Given the description of an element on the screen output the (x, y) to click on. 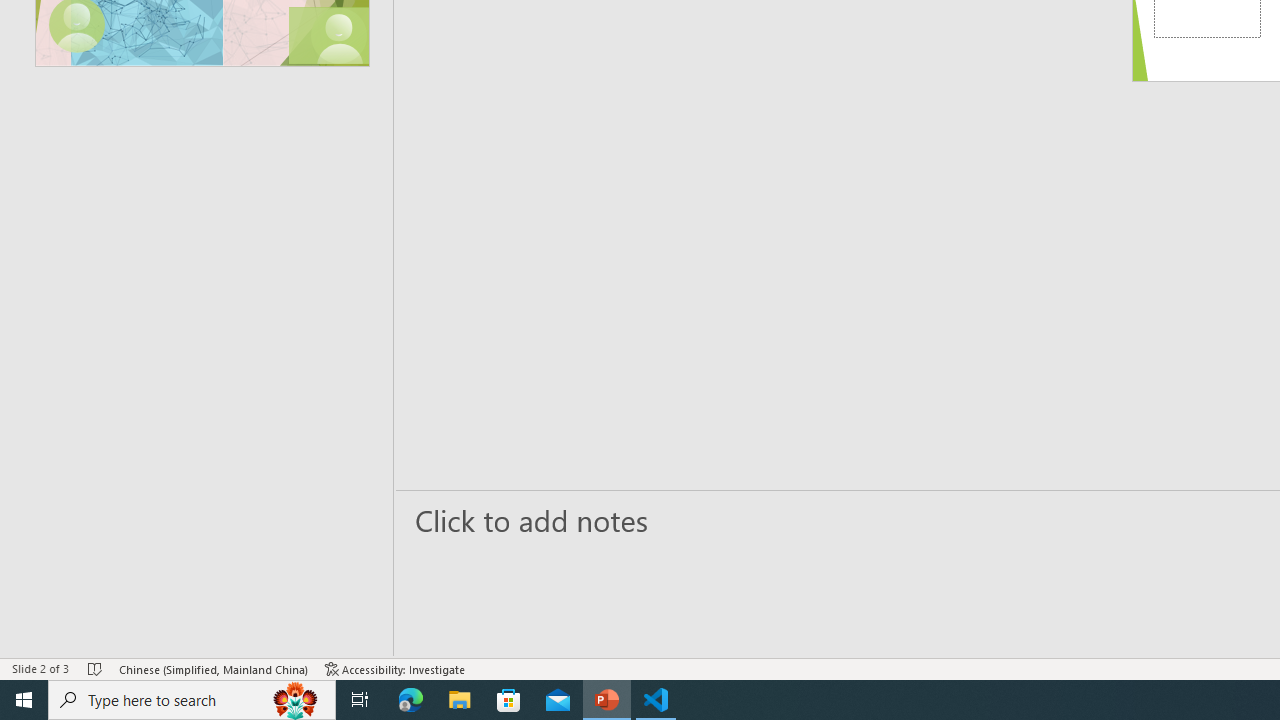
Accessibility Checker Accessibility: Investigate (395, 668)
Spell Check No Errors (95, 668)
